Given the description of an element on the screen output the (x, y) to click on. 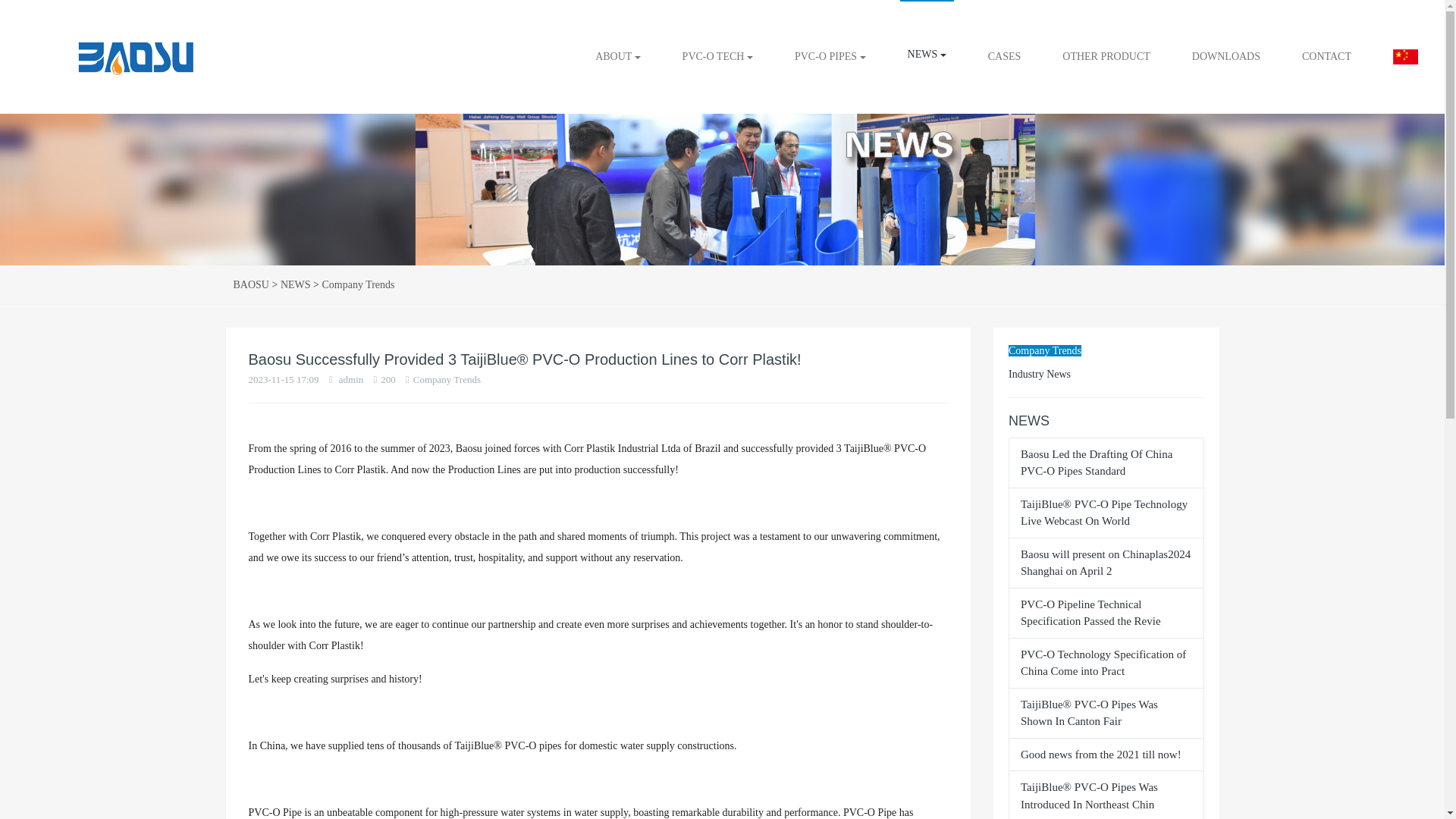
Company Trends (357, 284)
Company Trends (1045, 350)
BAOSU (135, 57)
Baosu will present on Chinaplas2024 Shanghai on April 2 (1105, 562)
PVC-O Pipeline Technical Specification Passed the Revie (1090, 613)
BAOSU (250, 284)
OTHER PRODUCT (1105, 56)
BAOSU (88, 56)
Industry News (1039, 374)
PVC-O Technology Specification of China Come into Pract (1103, 663)
Good news from the 2021 till now! (1100, 754)
Baosu Led the Drafting Of China PVC-O Pipes Standard (1096, 462)
NEWS (296, 284)
OTHER PRODUCT (1105, 56)
